Given the description of an element on the screen output the (x, y) to click on. 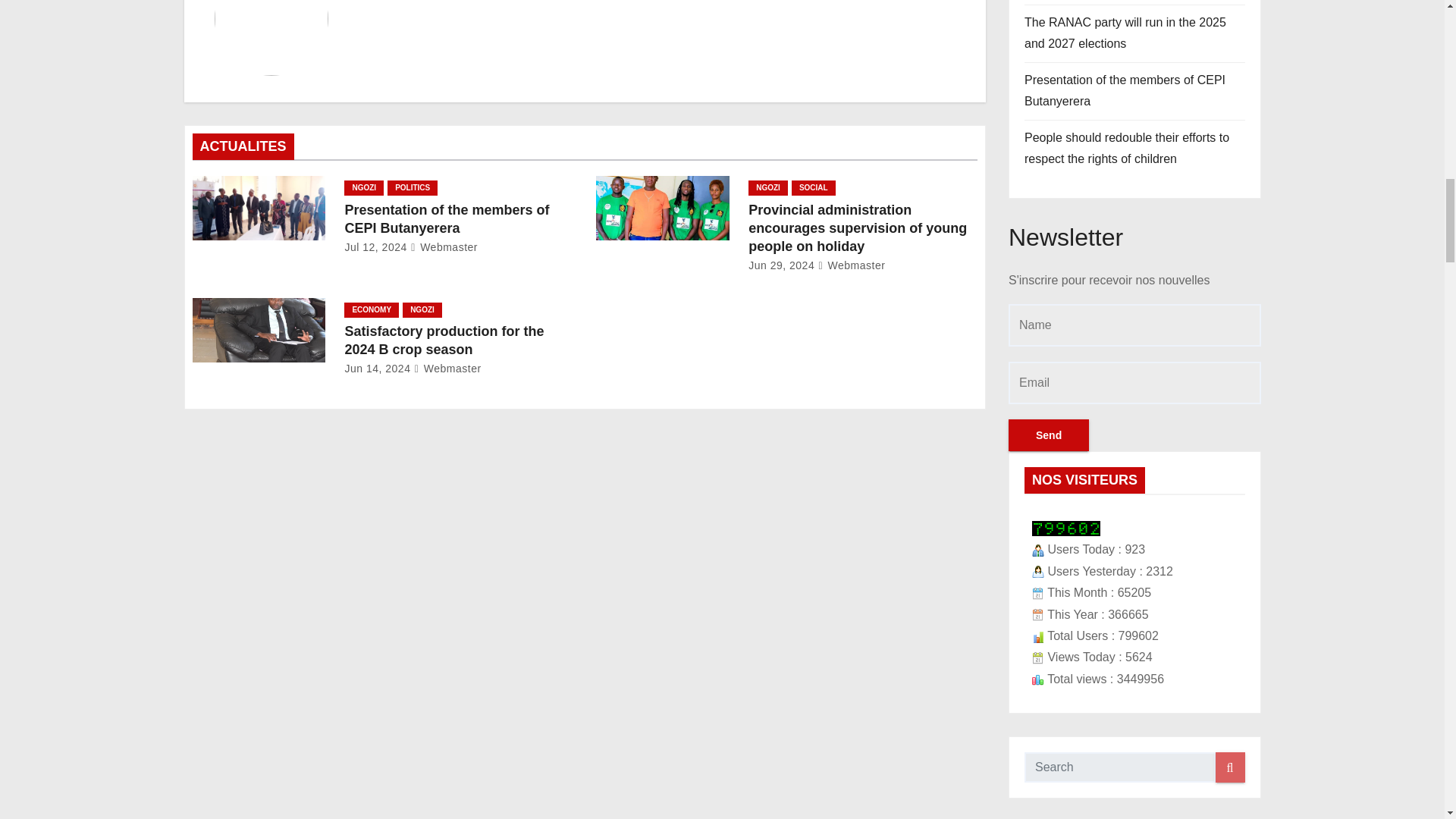
Send (1049, 435)
